Given the description of an element on the screen output the (x, y) to click on. 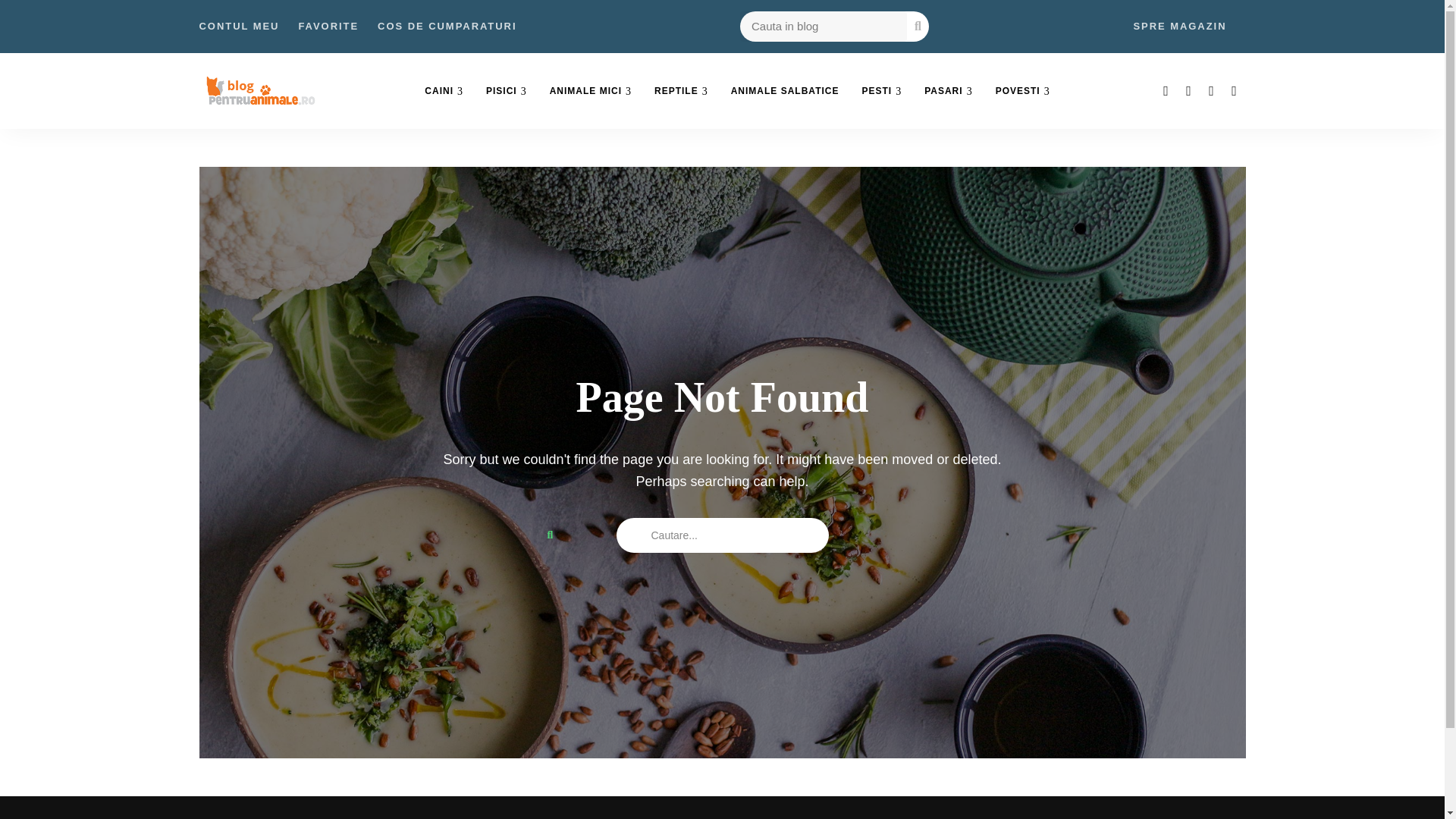
REPTILE (681, 90)
POVESTI (1022, 90)
ANIMALE SALBATICE (784, 90)
ANIMALE MICI (590, 90)
COS DE CUMPARATURI (446, 26)
PASARI (948, 90)
FAVORITE (328, 26)
SPRE MAGAZIN (1178, 26)
CONTUL MEU (238, 26)
